Given the description of an element on the screen output the (x, y) to click on. 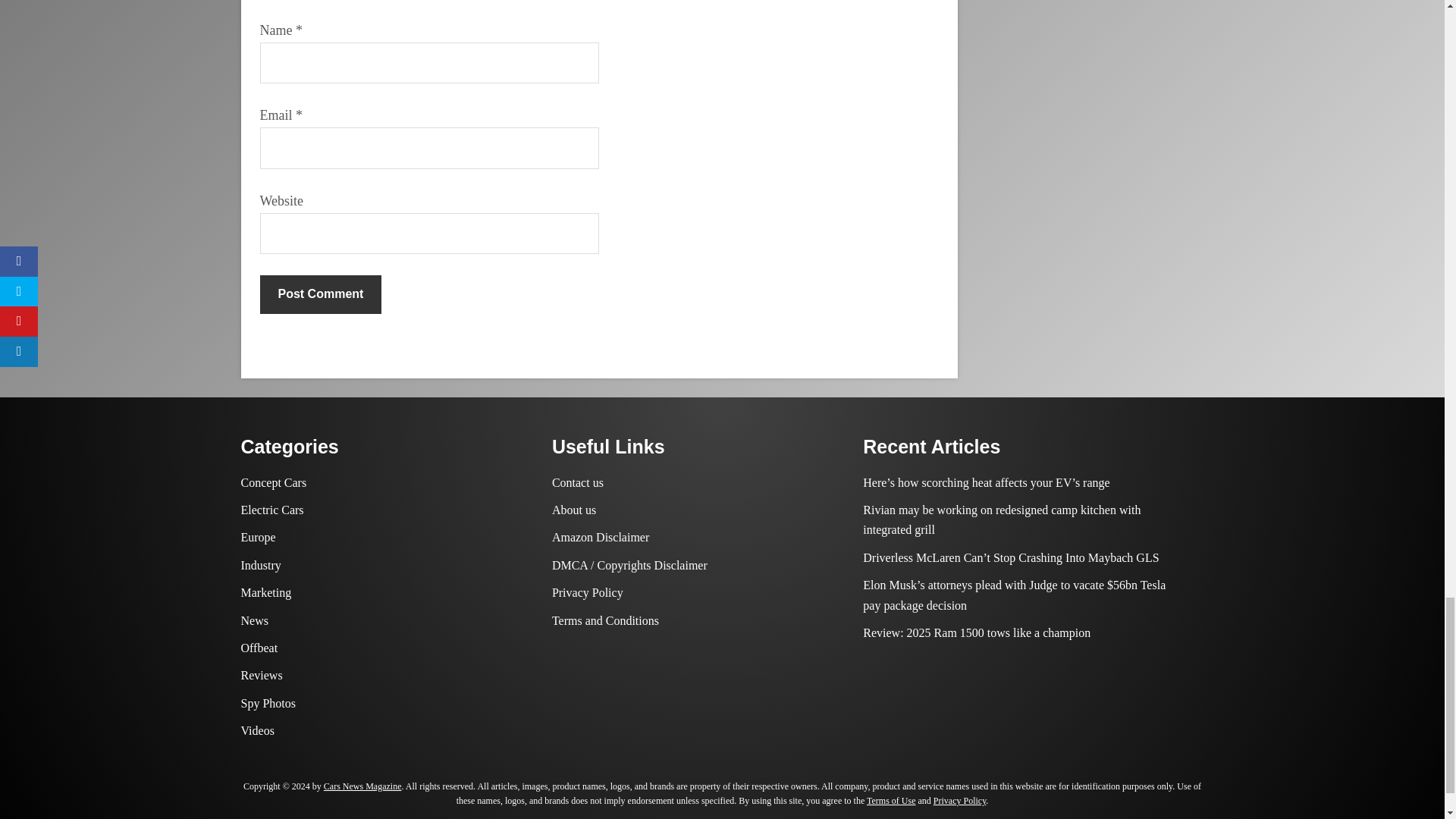
Post Comment (320, 293)
